Given the description of an element on the screen output the (x, y) to click on. 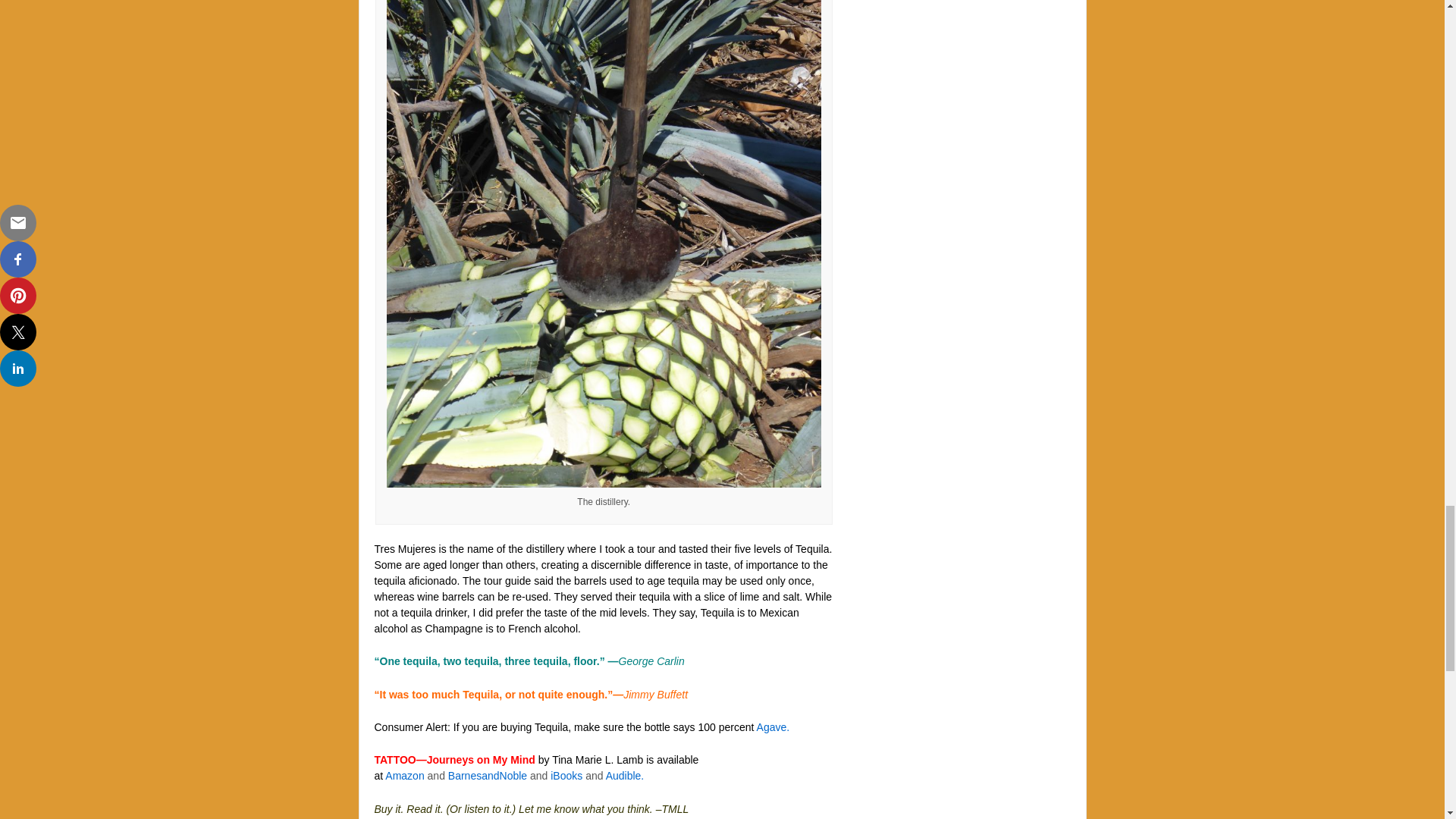
Audible. (625, 775)
Agave. (773, 727)
BarnesandNoble (487, 775)
iBooks (566, 775)
Amazon (404, 775)
